Given the description of an element on the screen output the (x, y) to click on. 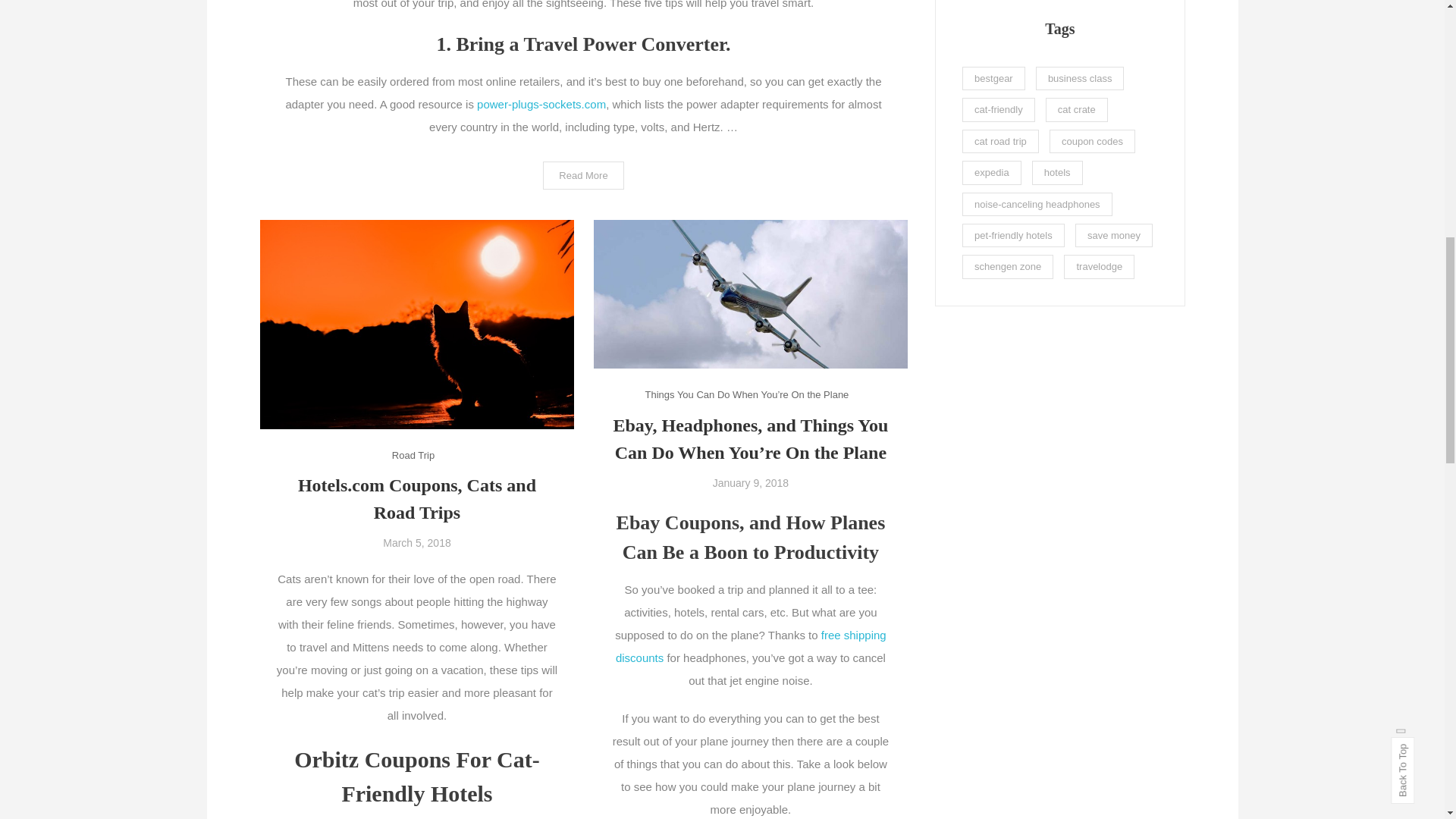
January 9, 2018 (751, 482)
Hotels.com Coupons, Cats and Road Trips (416, 498)
March 5, 2018 (416, 542)
Read More (583, 175)
free shipping discounts (750, 646)
power-plugs-sockets.com (541, 103)
Road Trip (412, 455)
